Given the description of an element on the screen output the (x, y) to click on. 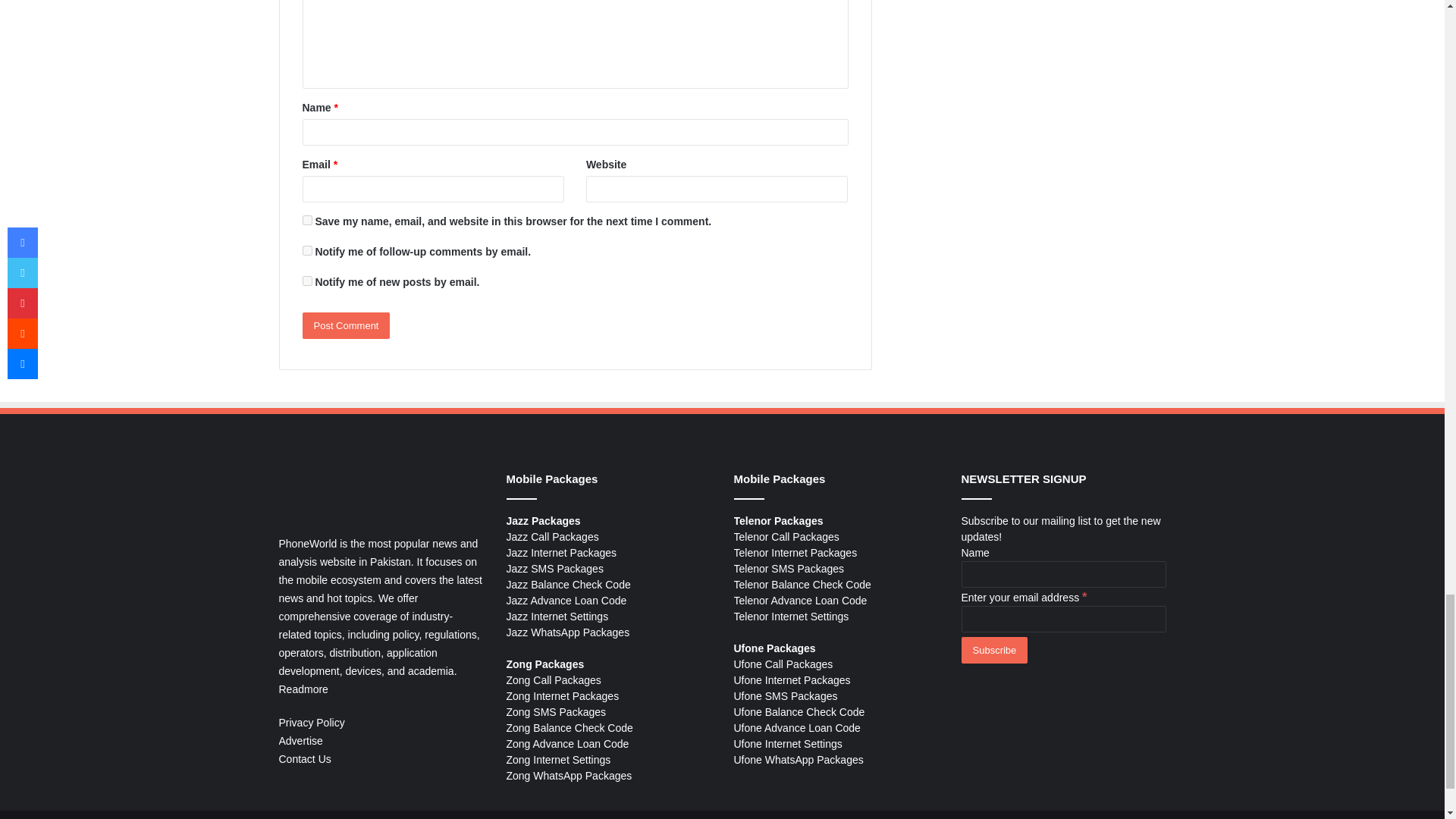
Post Comment (345, 325)
subscribe (306, 280)
subscribe (306, 250)
yes (306, 220)
Subscribe (993, 650)
